Given the description of an element on the screen output the (x, y) to click on. 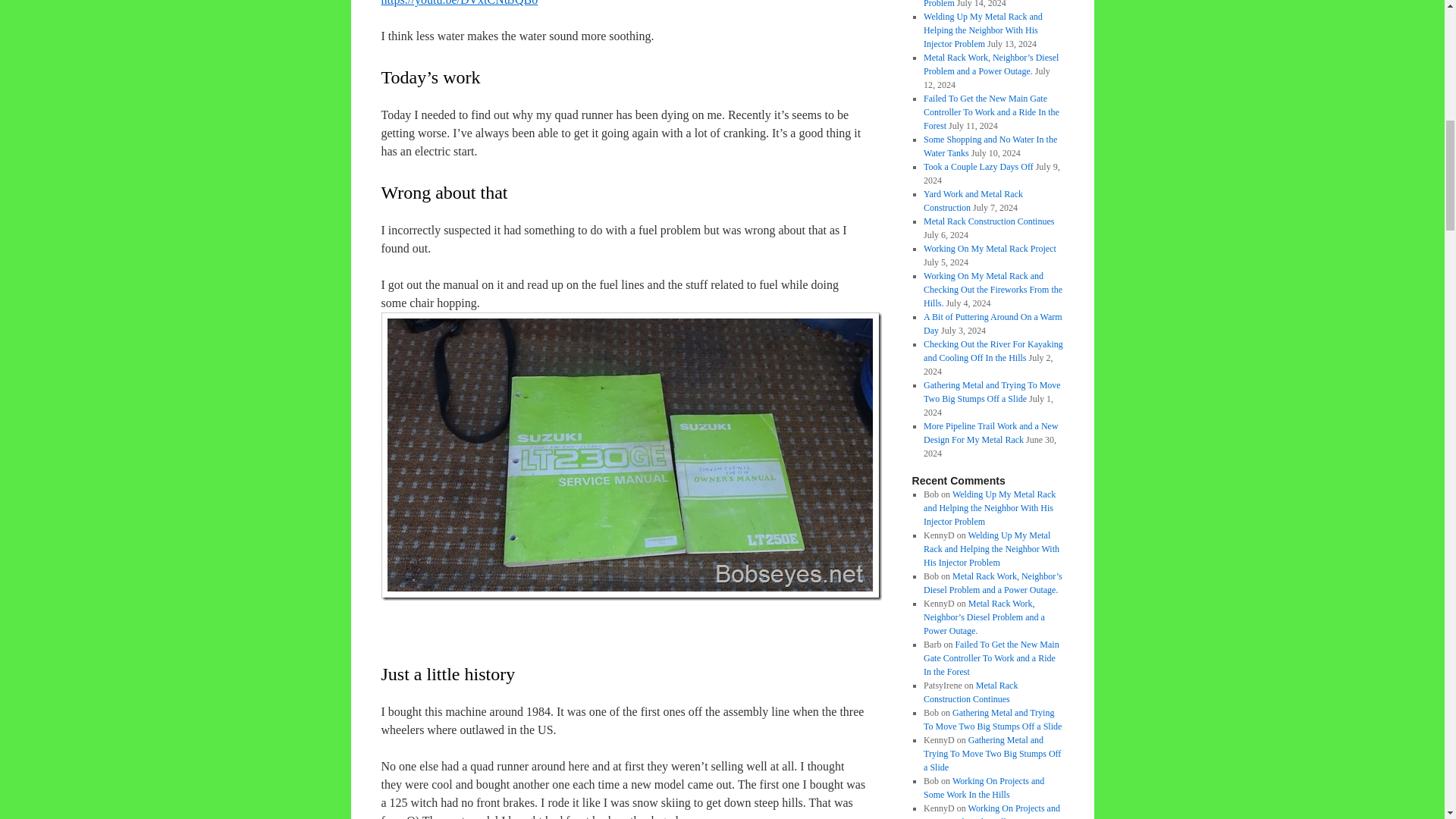
Some Shopping and No Water In the Water Tanks (990, 146)
